Given the description of an element on the screen output the (x, y) to click on. 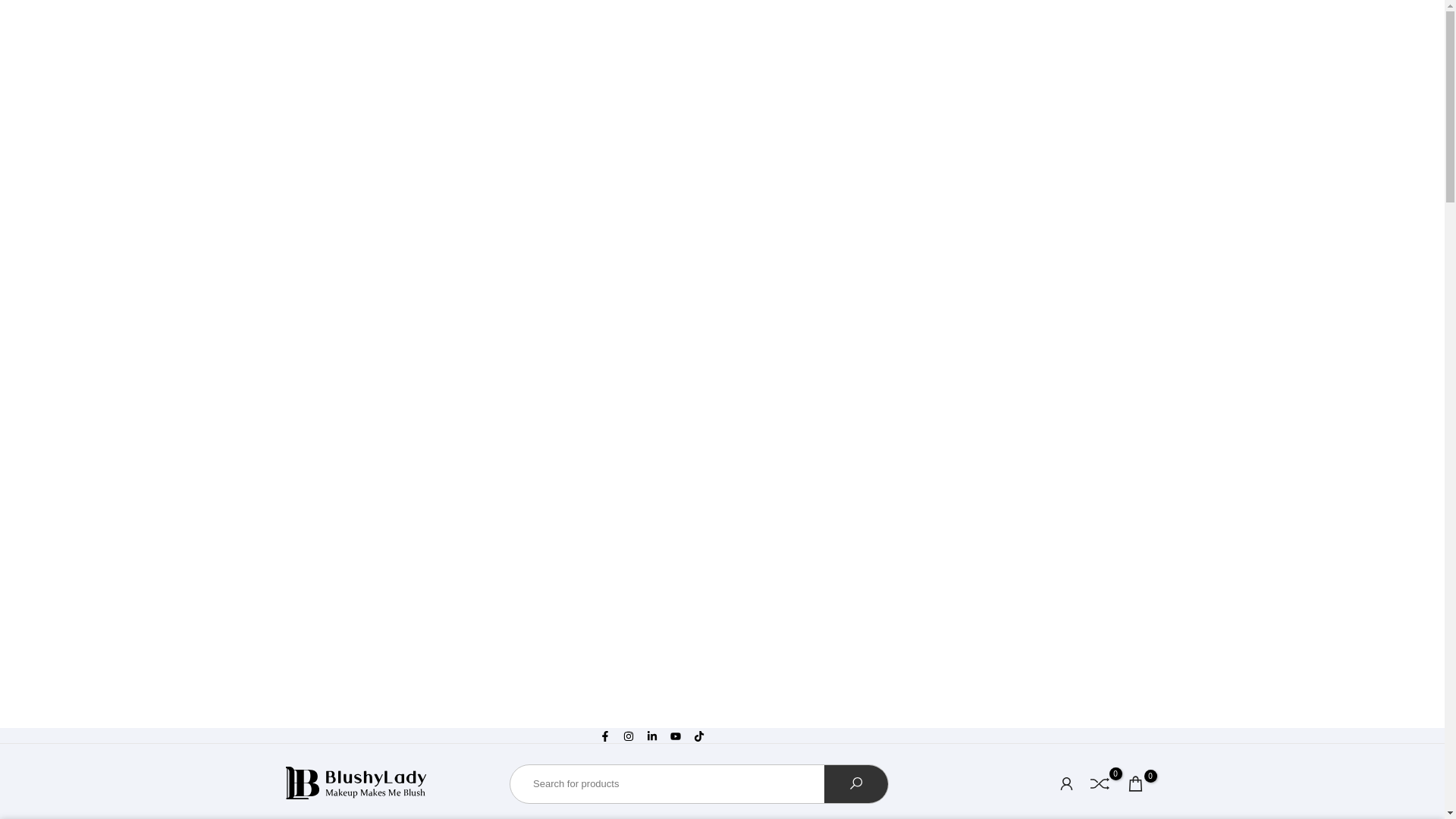
0 (1099, 783)
0 (1134, 783)
Skip to content (10, 734)
